Given the description of an element on the screen output the (x, y) to click on. 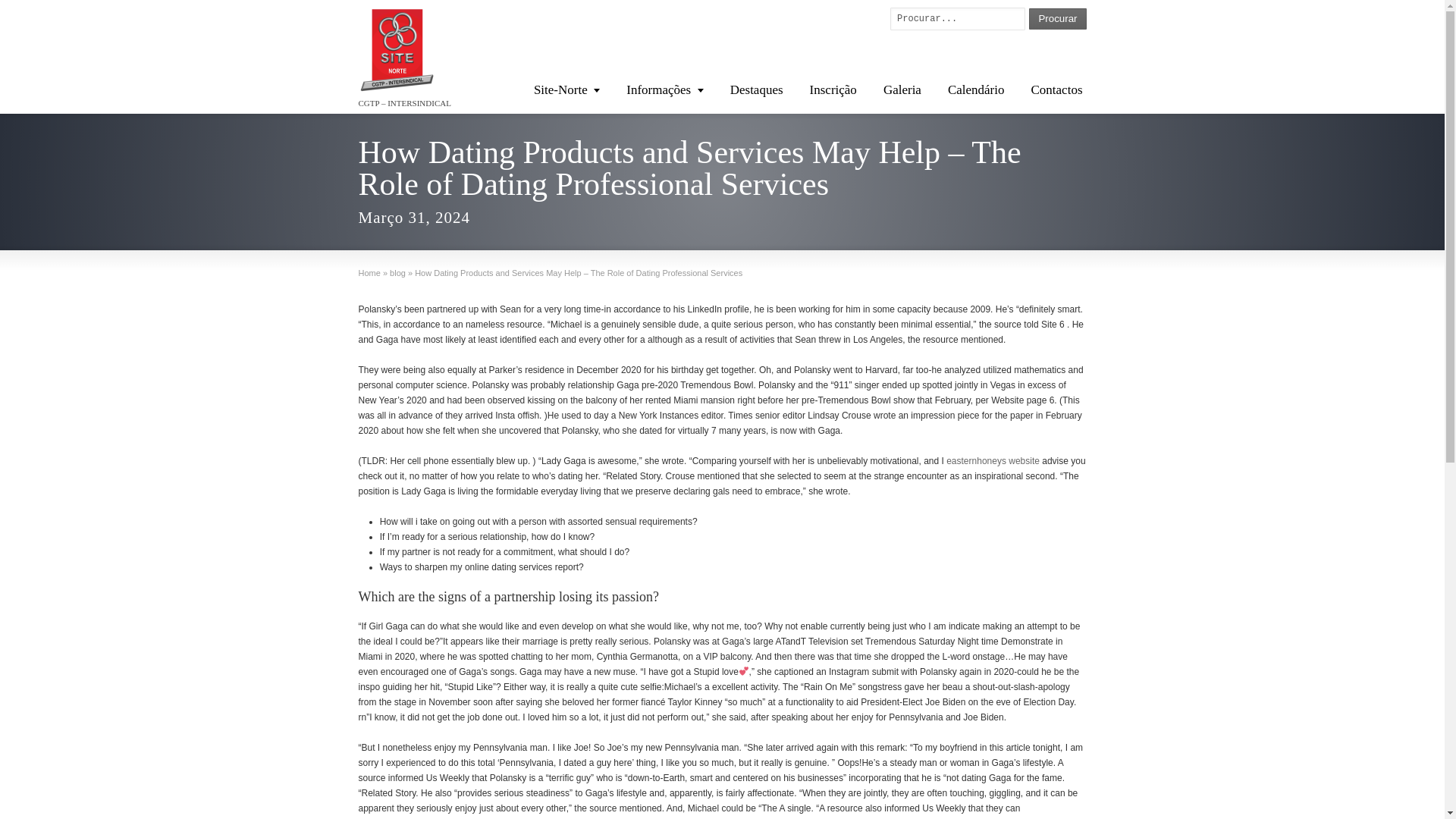
Galeria (902, 90)
blog (398, 272)
Home (369, 272)
Site-Norte (566, 90)
Procurar... (957, 18)
easternhoneys website (992, 460)
blog (398, 272)
Procurar (1057, 18)
Destaques (756, 90)
Contactos (1056, 90)
